Given the description of an element on the screen output the (x, y) to click on. 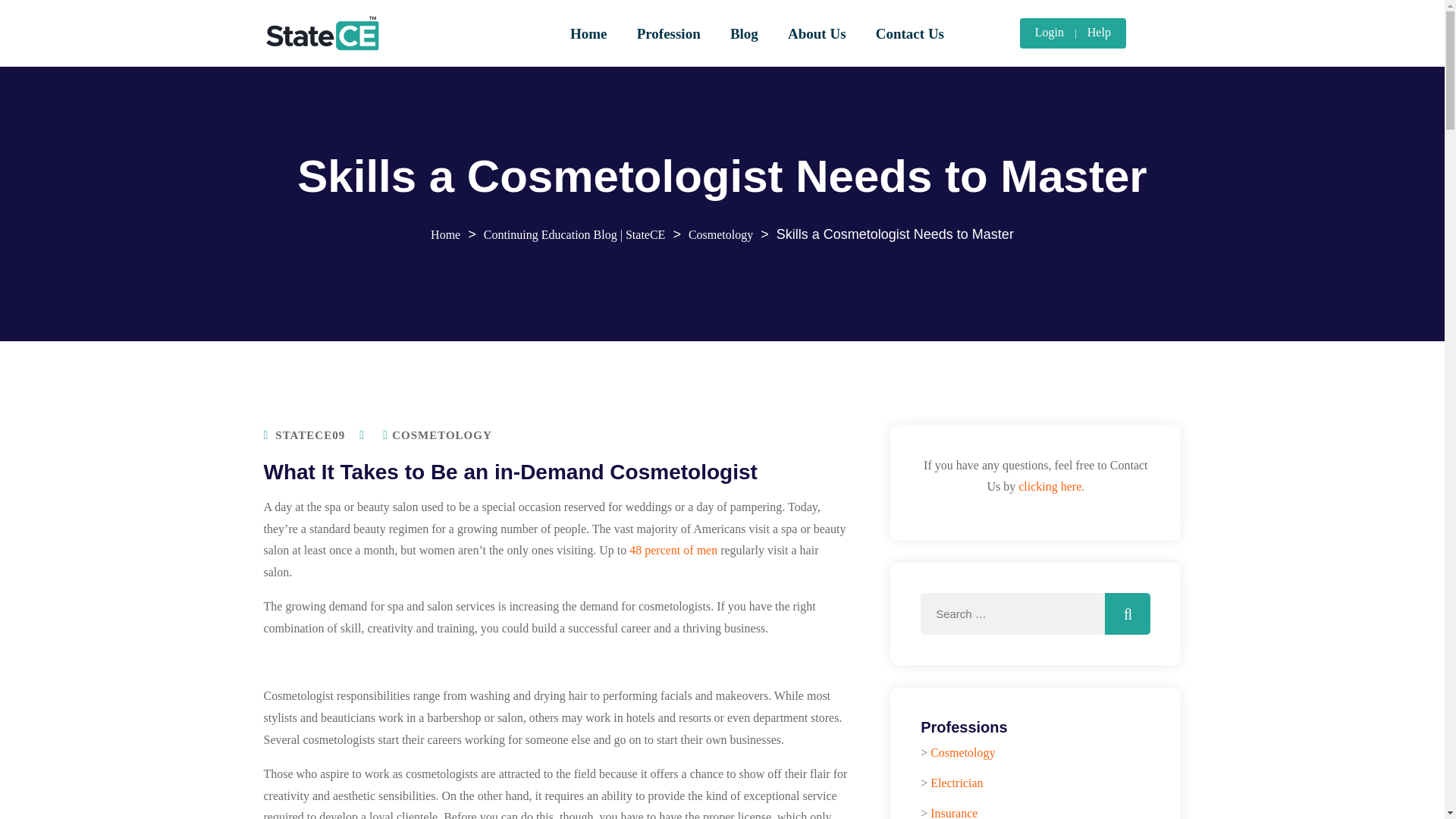
Blog (743, 33)
Go to StateCE: Online Continuing Education. (445, 234)
Contact Us (909, 33)
Profession (667, 33)
Home (588, 33)
Go to the Cosmetology Category archives. (720, 234)
Cosmetology (720, 234)
Login (1049, 32)
Help (1098, 32)
About Us (816, 33)
